Given the description of an element on the screen output the (x, y) to click on. 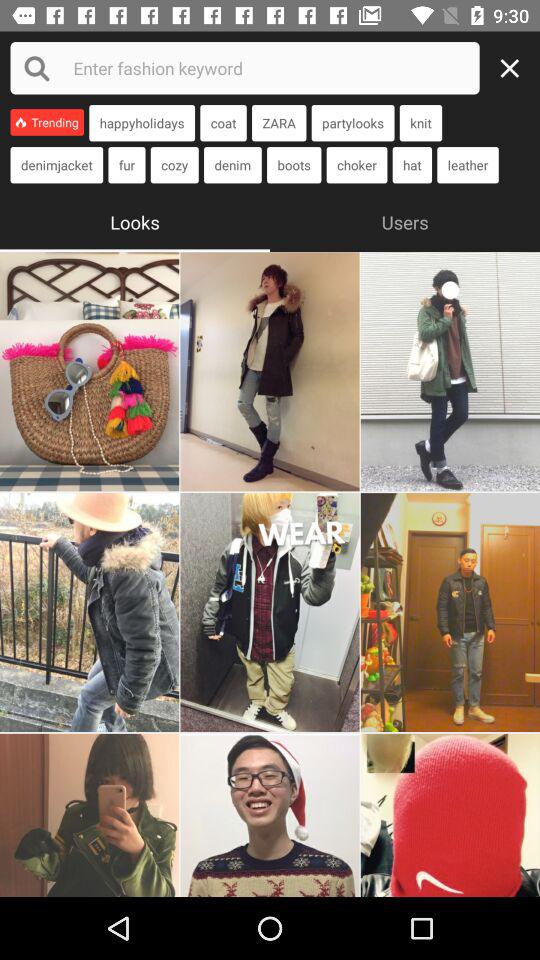
search (244, 68)
